Given the description of an element on the screen output the (x, y) to click on. 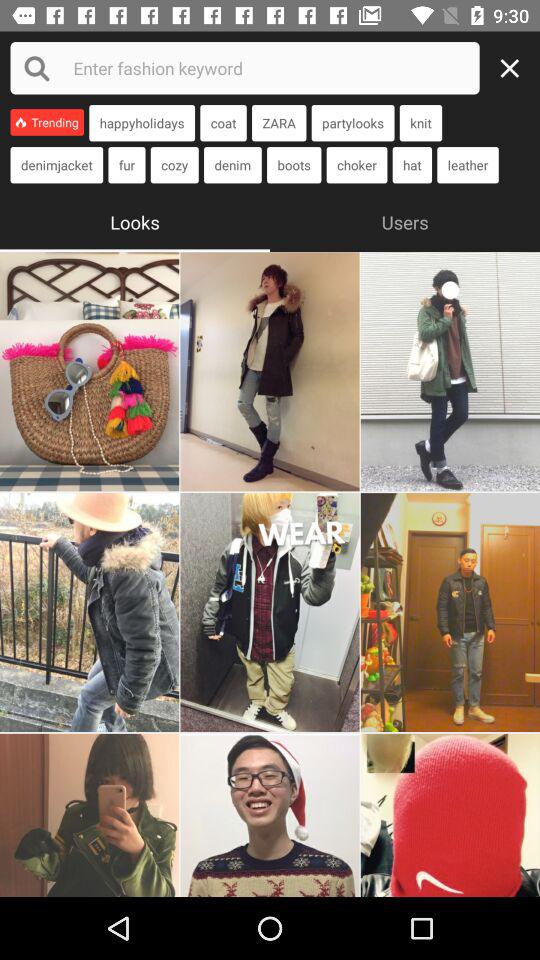
search (244, 68)
